Given the description of an element on the screen output the (x, y) to click on. 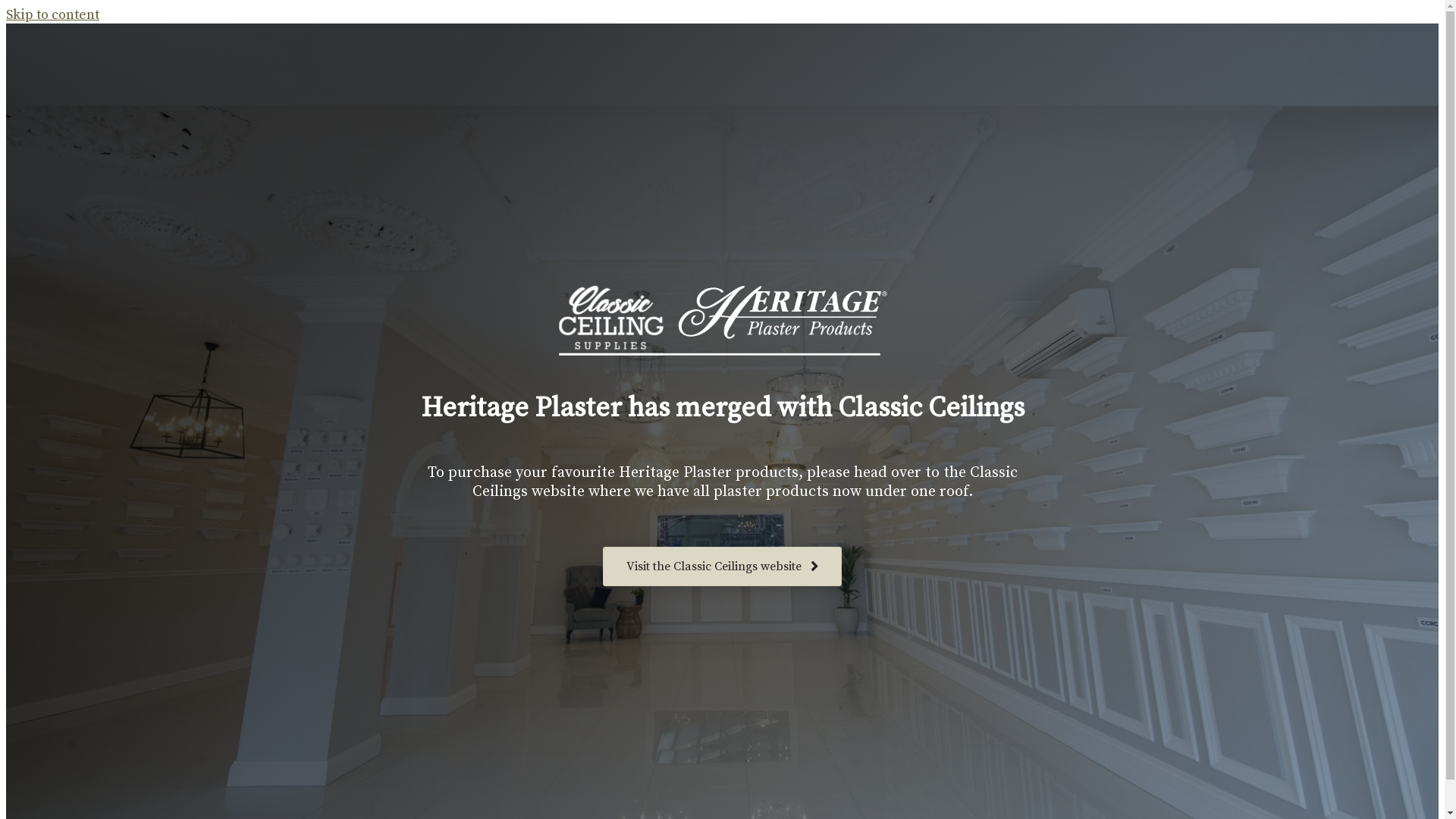
Skip to content Element type: text (52, 14)
Visit the Classic Ceilings website Element type: text (721, 566)
Classic Ceilings and Heritage Plaster Logo (transparent) Element type: hover (721, 319)
